Given the description of an element on the screen output the (x, y) to click on. 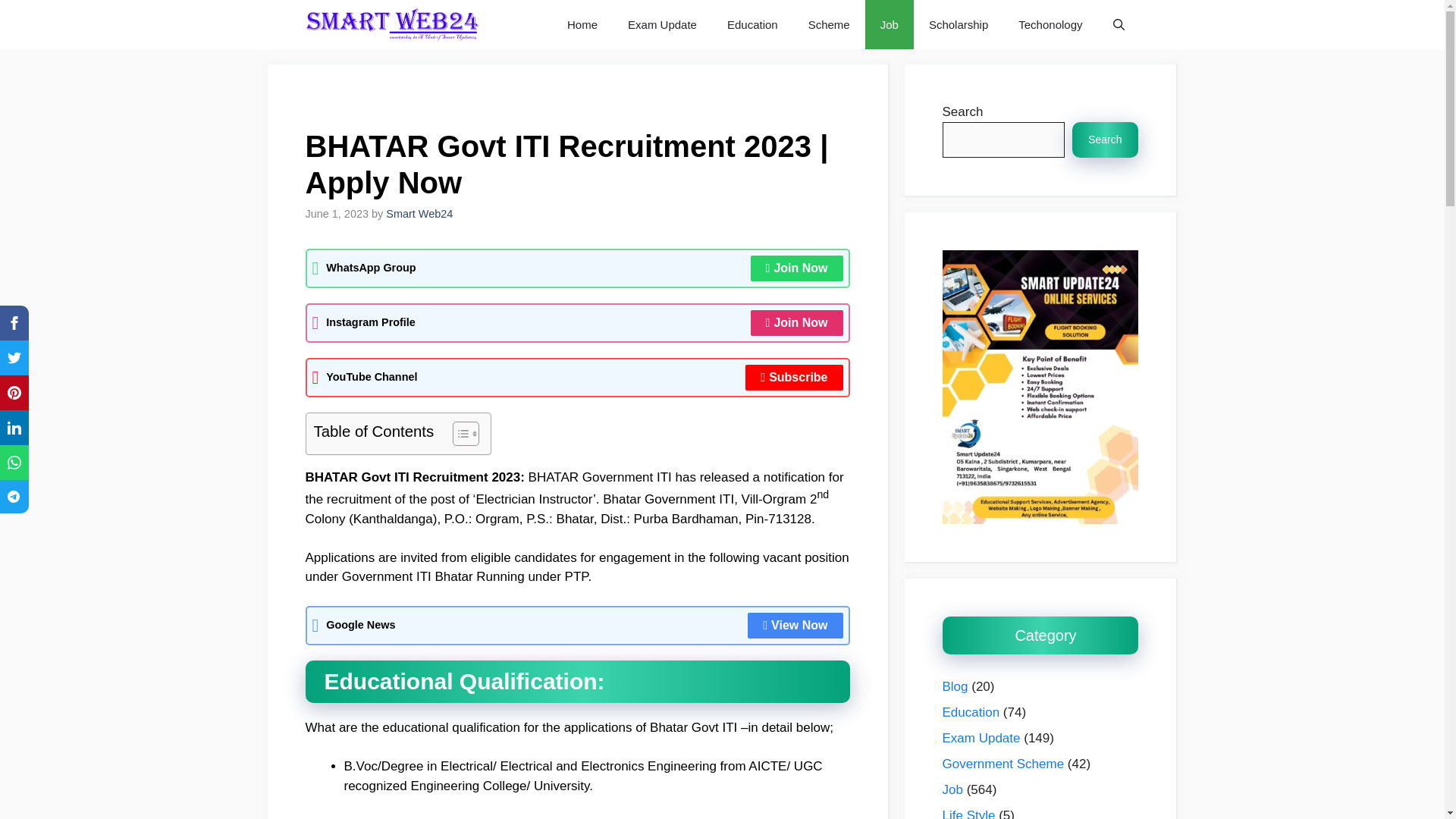
Join Now (797, 268)
Smart Web24 (392, 24)
Smart Web24 (418, 214)
Scheme (828, 24)
Home (581, 24)
Join Now (797, 322)
View all posts by Smart Web24 (418, 214)
View Now (795, 625)
Scholarship (958, 24)
Job (889, 24)
Techonology (1050, 24)
Exam Update (661, 24)
Education (752, 24)
Subscribe (794, 377)
